Given the description of an element on the screen output the (x, y) to click on. 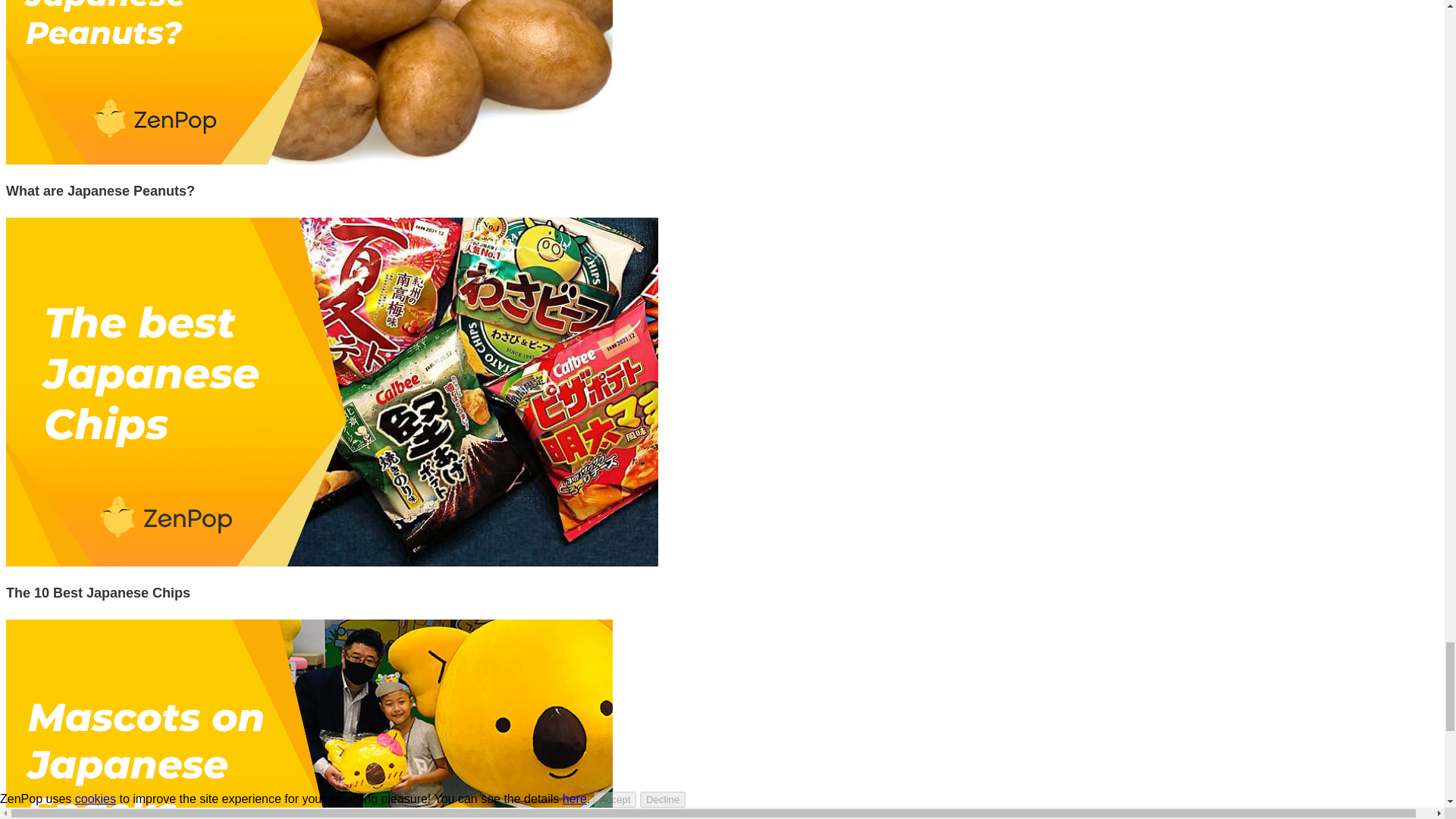
The 10 Best Japanese Chips (97, 592)
What are Japanese Peanuts? (100, 191)
The 10 Best Japanese Chips (331, 562)
What are Japanese Peanuts? (308, 160)
The 10 Best Japanese Chips (97, 592)
What are Japanese Peanuts? (100, 191)
